Given the description of an element on the screen output the (x, y) to click on. 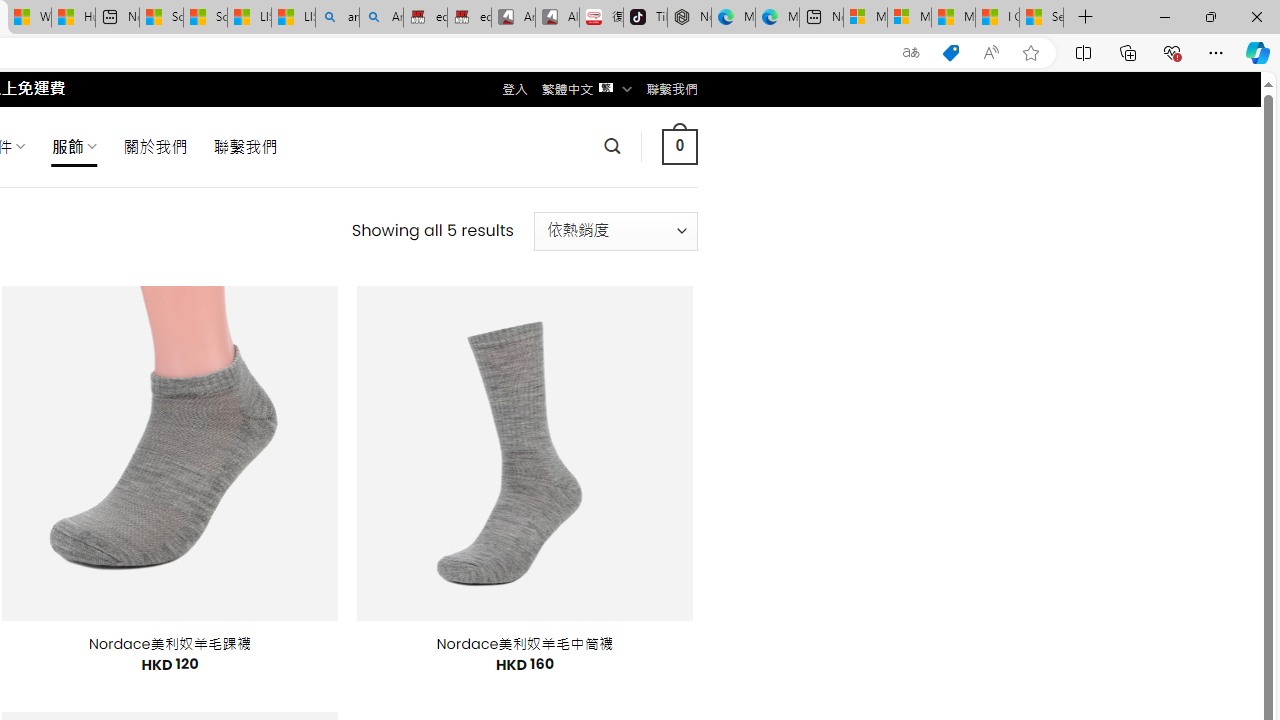
I Gained 20 Pounds of Muscle in 30 Days! | Watch (996, 17)
This site has coupons! Shopping in Microsoft Edge (950, 53)
Show translate options (910, 53)
amazon - Search (337, 17)
